Given the description of an element on the screen output the (x, y) to click on. 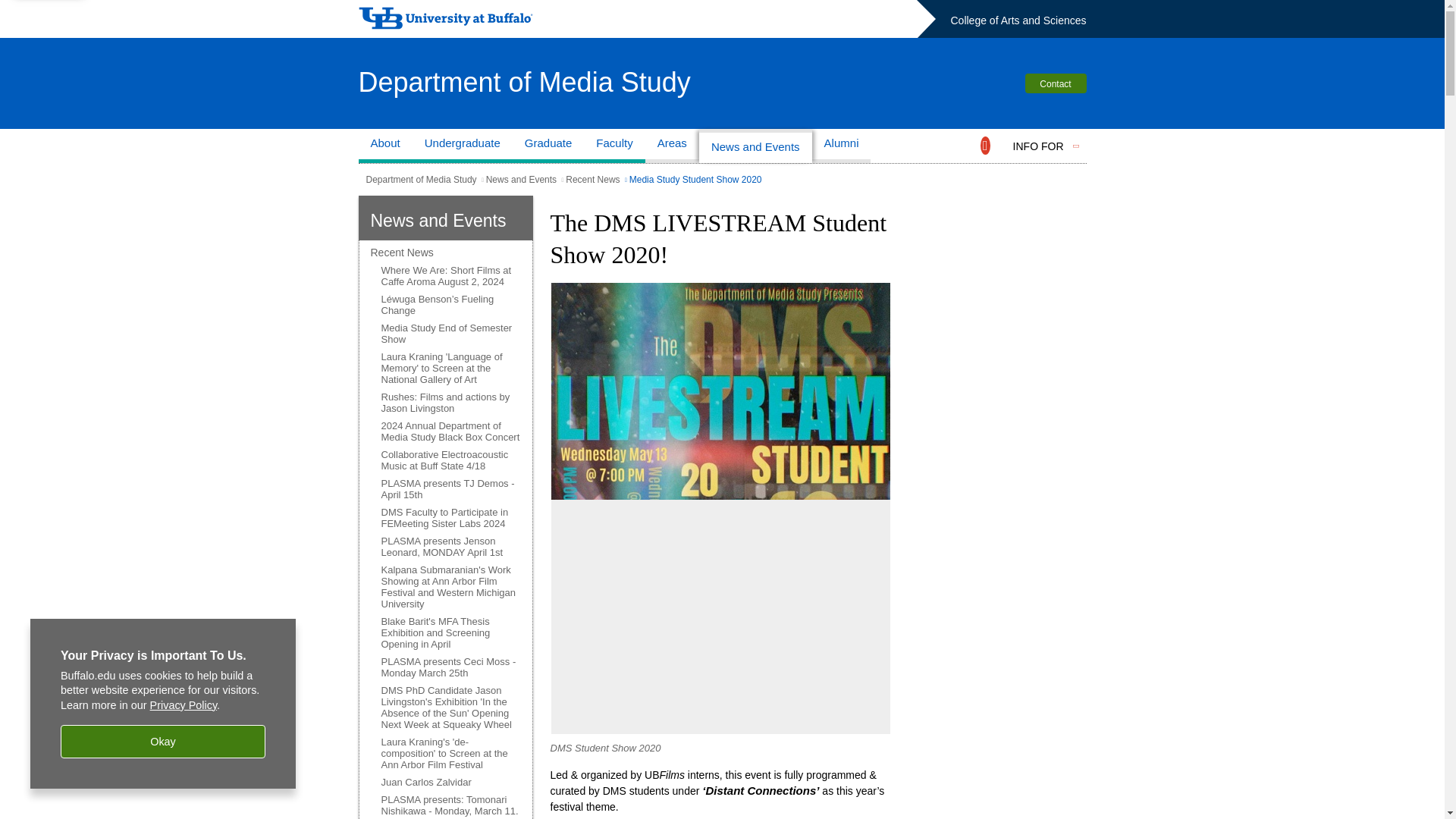
News and Events (521, 179)
Media Study End of Semester Show (450, 333)
Areas (671, 145)
Department of Media Study (420, 179)
Faculty (614, 145)
News and Events (437, 220)
Graduate (548, 145)
Where We Are: Short Films at Caffe Aroma August 2, 2024 (450, 275)
Alumni (841, 145)
